Given the description of an element on the screen output the (x, y) to click on. 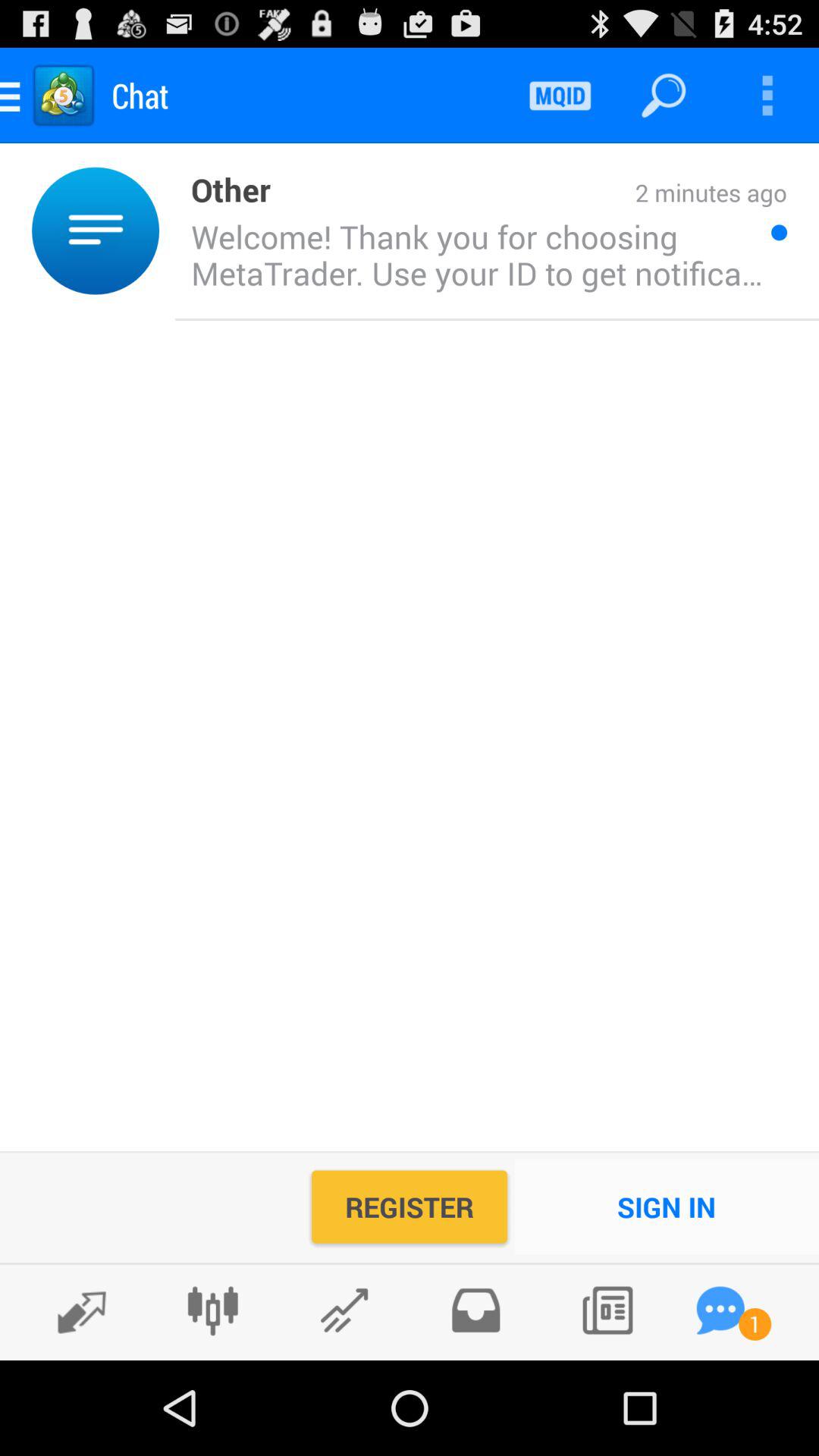
press the icon next to the other icon (528, 194)
